Given the description of an element on the screen output the (x, y) to click on. 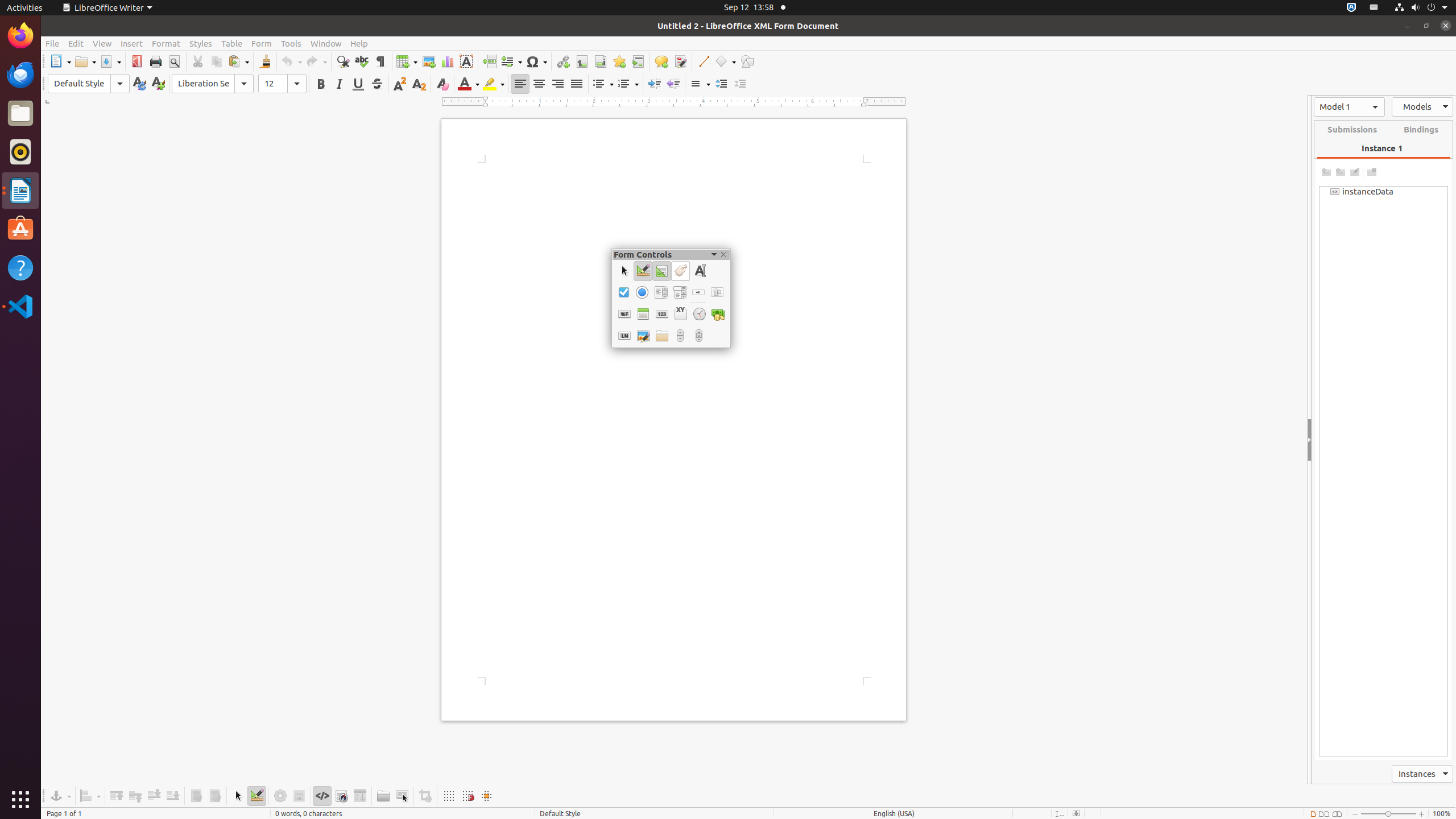
Text Box Element type: toggle-button (698, 270)
List Box Element type: toggle-button (660, 292)
Push Button Element type: toggle-button (697, 292)
Image Button Element type: toggle-button (716, 292)
Option Button Element type: toggle-button (641, 292)
